Given the description of an element on the screen output the (x, y) to click on. 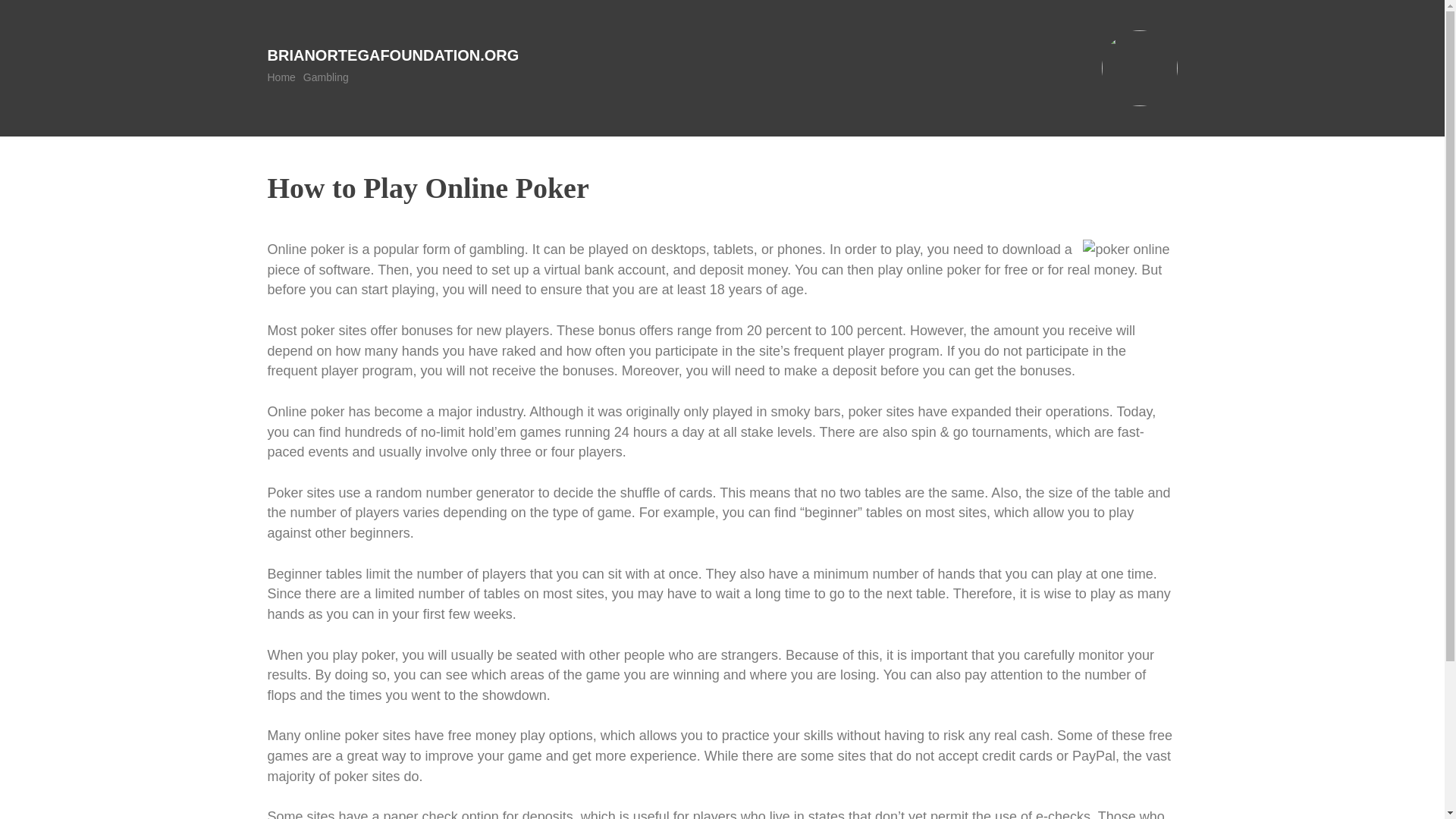
Home (280, 77)
Brianortegafoundation.org (392, 54)
Gambling (325, 77)
BRIANORTEGAFOUNDATION.ORG (392, 54)
